Given the description of an element on the screen output the (x, y) to click on. 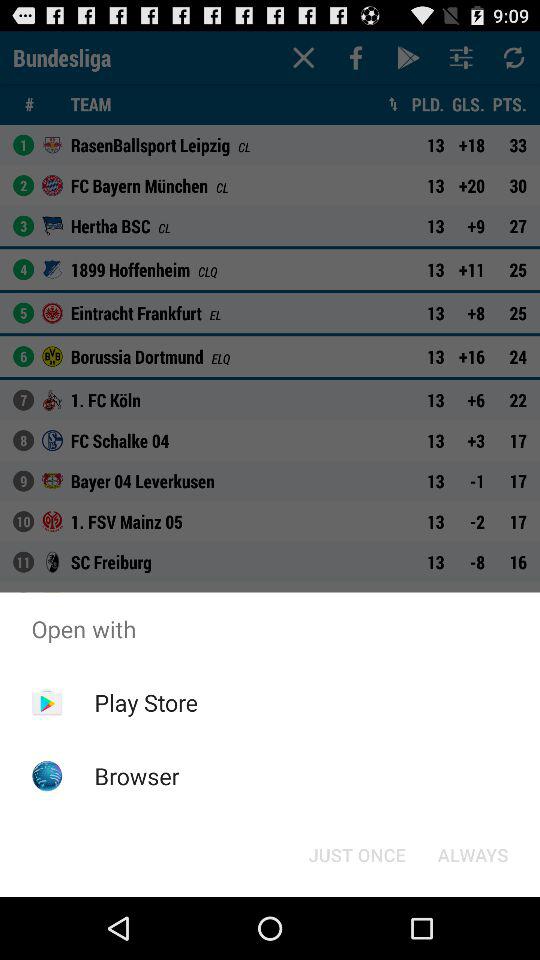
click icon to the right of just once icon (472, 854)
